Given the description of an element on the screen output the (x, y) to click on. 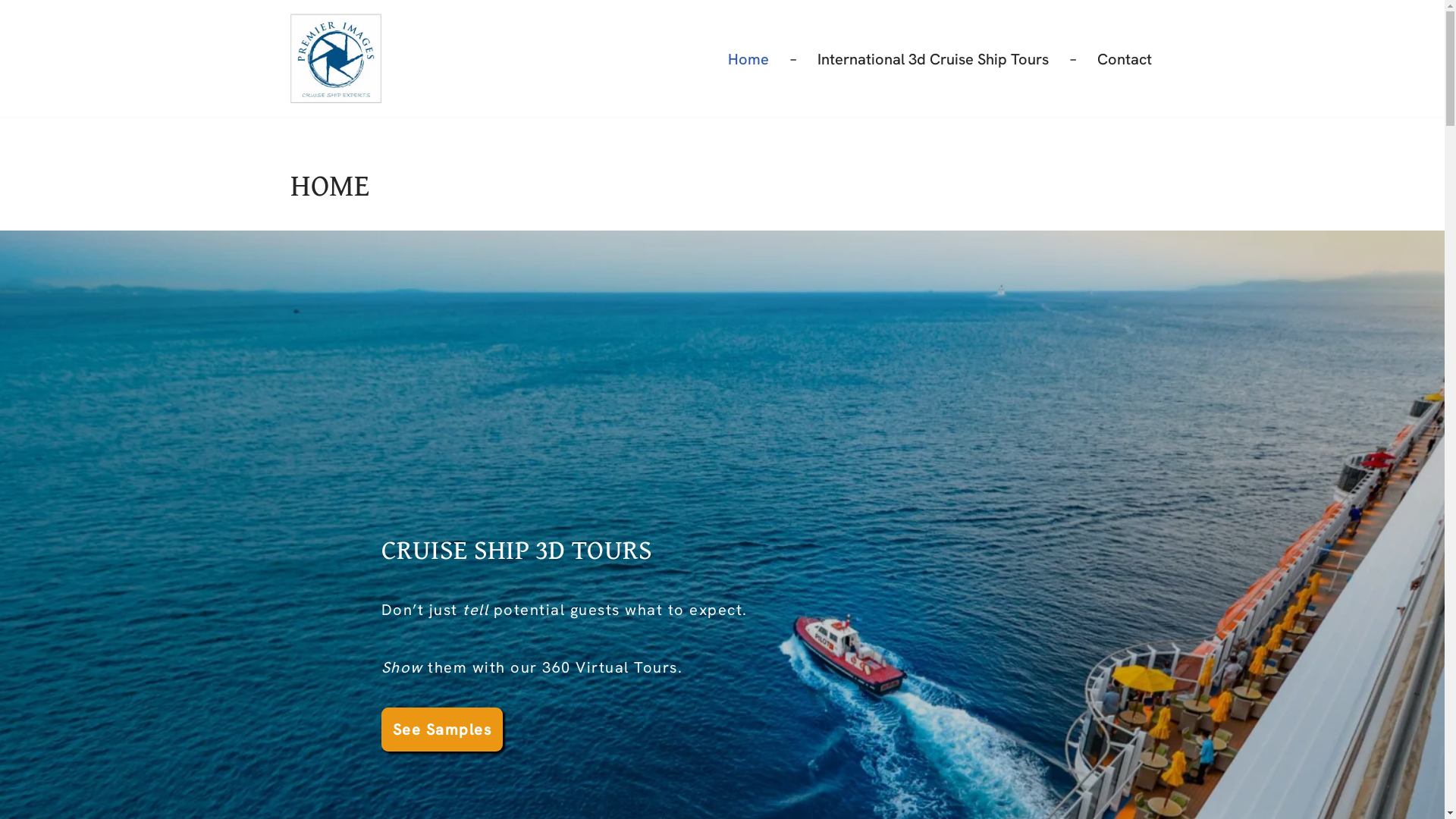
See Samples Element type: text (441, 729)
International 3d Cruise Ship Tours Element type: text (932, 58)
Skip to content Element type: text (11, 31)
Home Element type: text (748, 58)
Contact Element type: text (1123, 58)
